Given the description of an element on the screen output the (x, y) to click on. 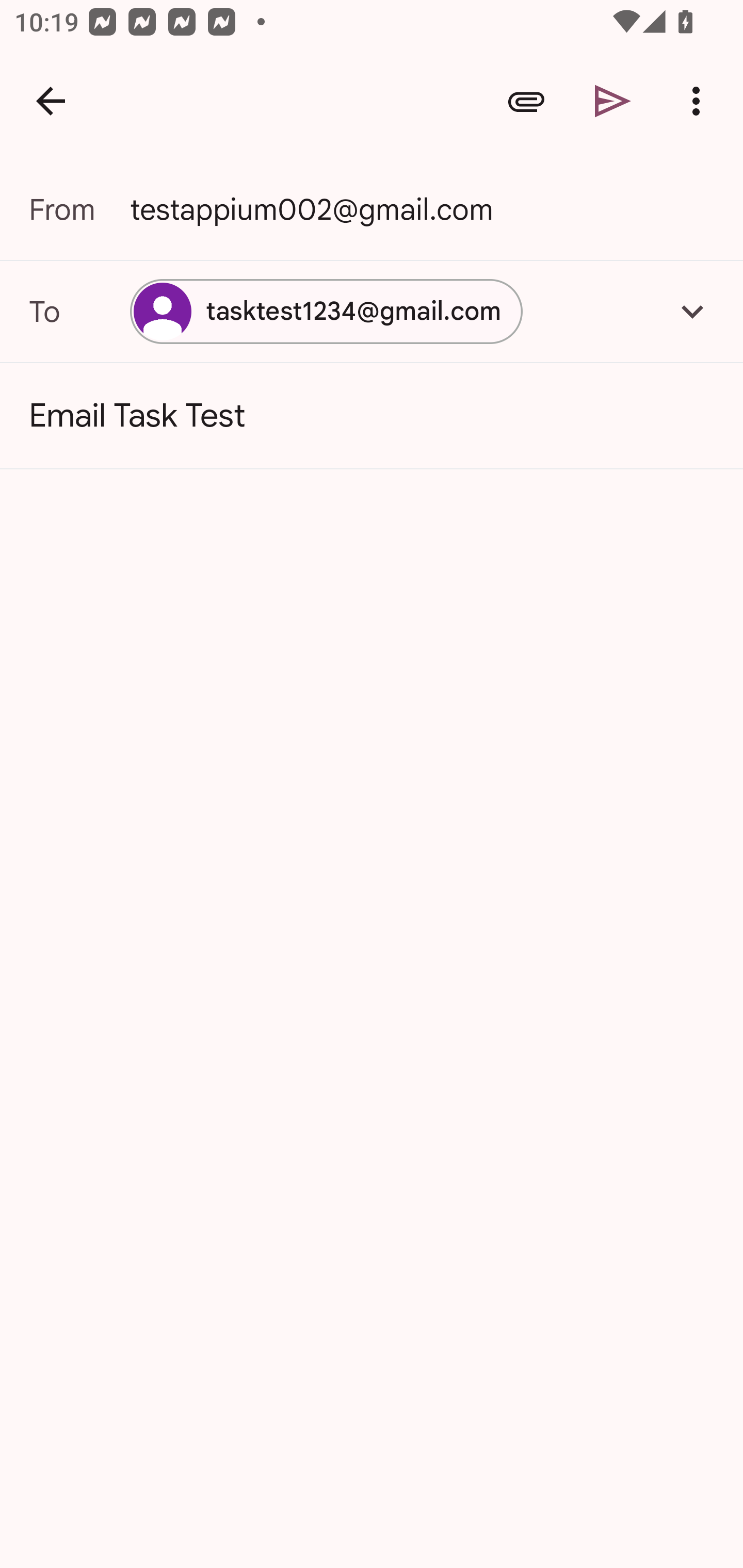
Navigate up (50, 101)
Attach file (525, 101)
Send (612, 101)
More options (699, 101)
From (79, 209)
Add Cc/Bcc (692, 311)
Email Task Test (371, 415)
